Given the description of an element on the screen output the (x, y) to click on. 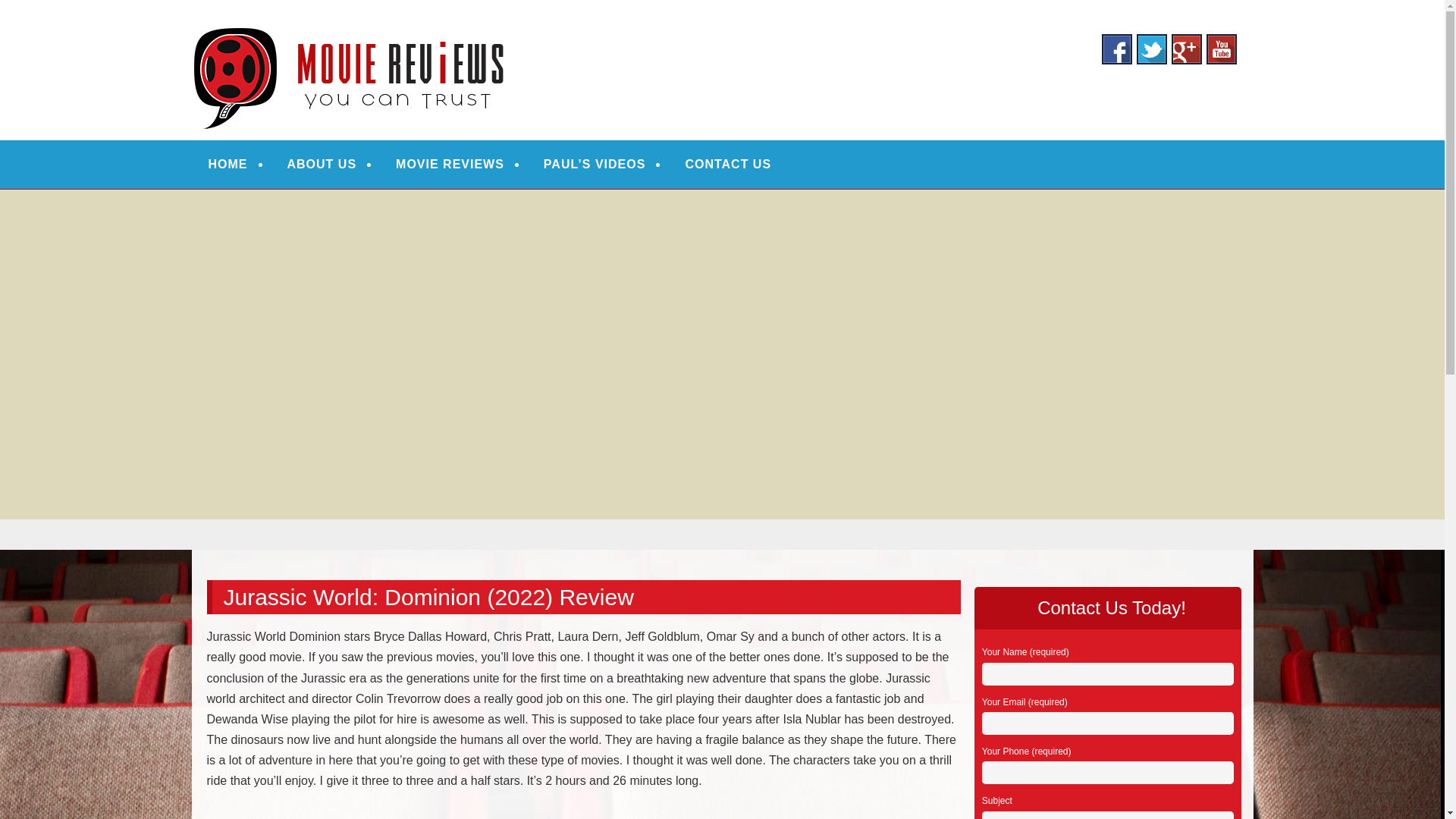
HOME (227, 164)
CONTACT US (727, 164)
ABOUT US (321, 164)
MOVIE REVIEWS YOU CAN TRUST (440, 32)
MOVIE REVIEWS (450, 164)
Movie Reviews You Can Trust (440, 32)
